Given the description of an element on the screen output the (x, y) to click on. 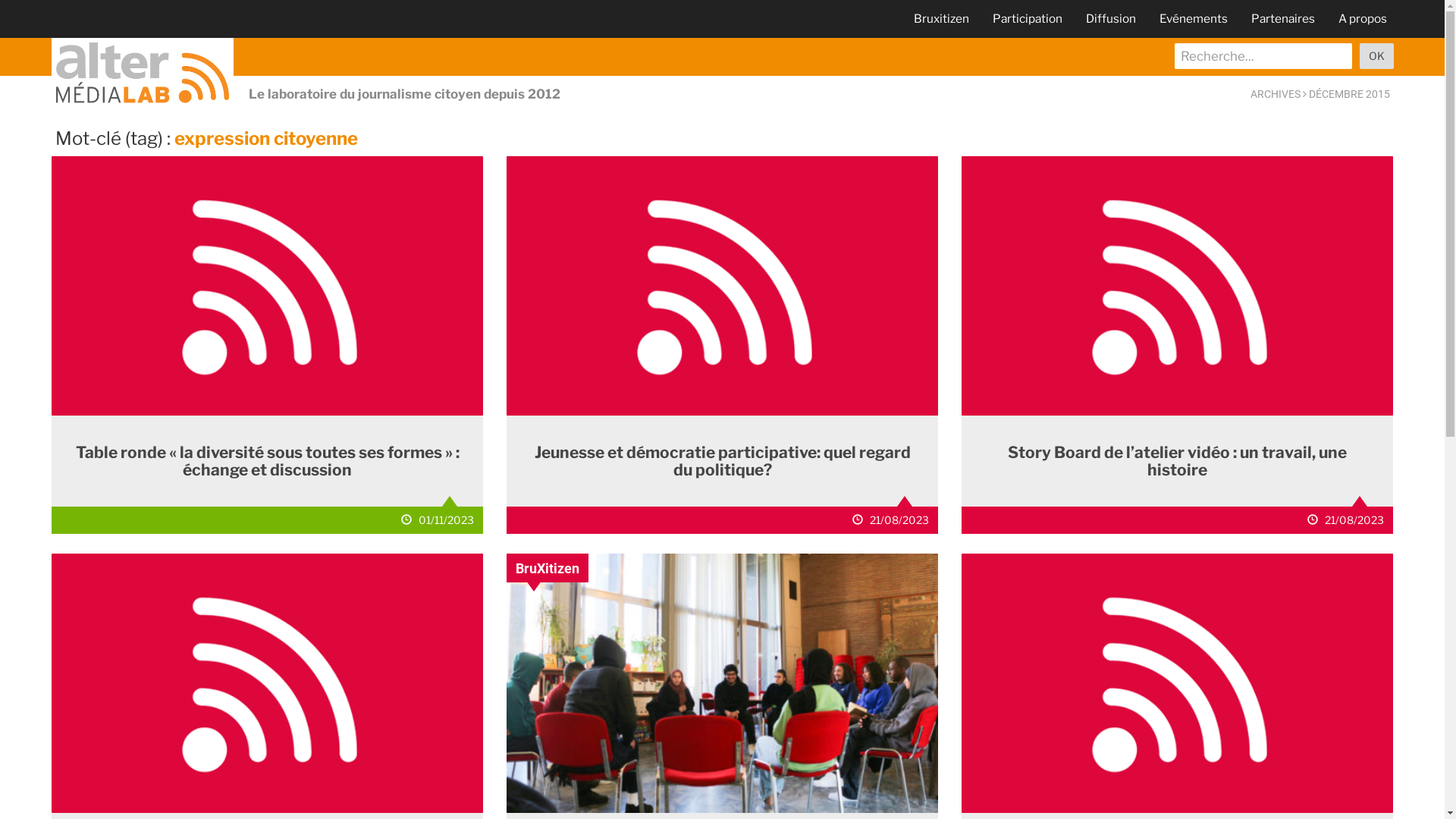
recherche Element type: hover (1262, 56)
Diffusion Element type: text (1110, 18)
OK Element type: text (1375, 56)
Participation Element type: text (1026, 18)
Bruxitizen Element type: text (940, 18)
Partenaires Element type: text (1282, 18)
ok Element type: hover (1375, 56)
A propos Element type: text (1361, 18)
